Given the description of an element on the screen output the (x, y) to click on. 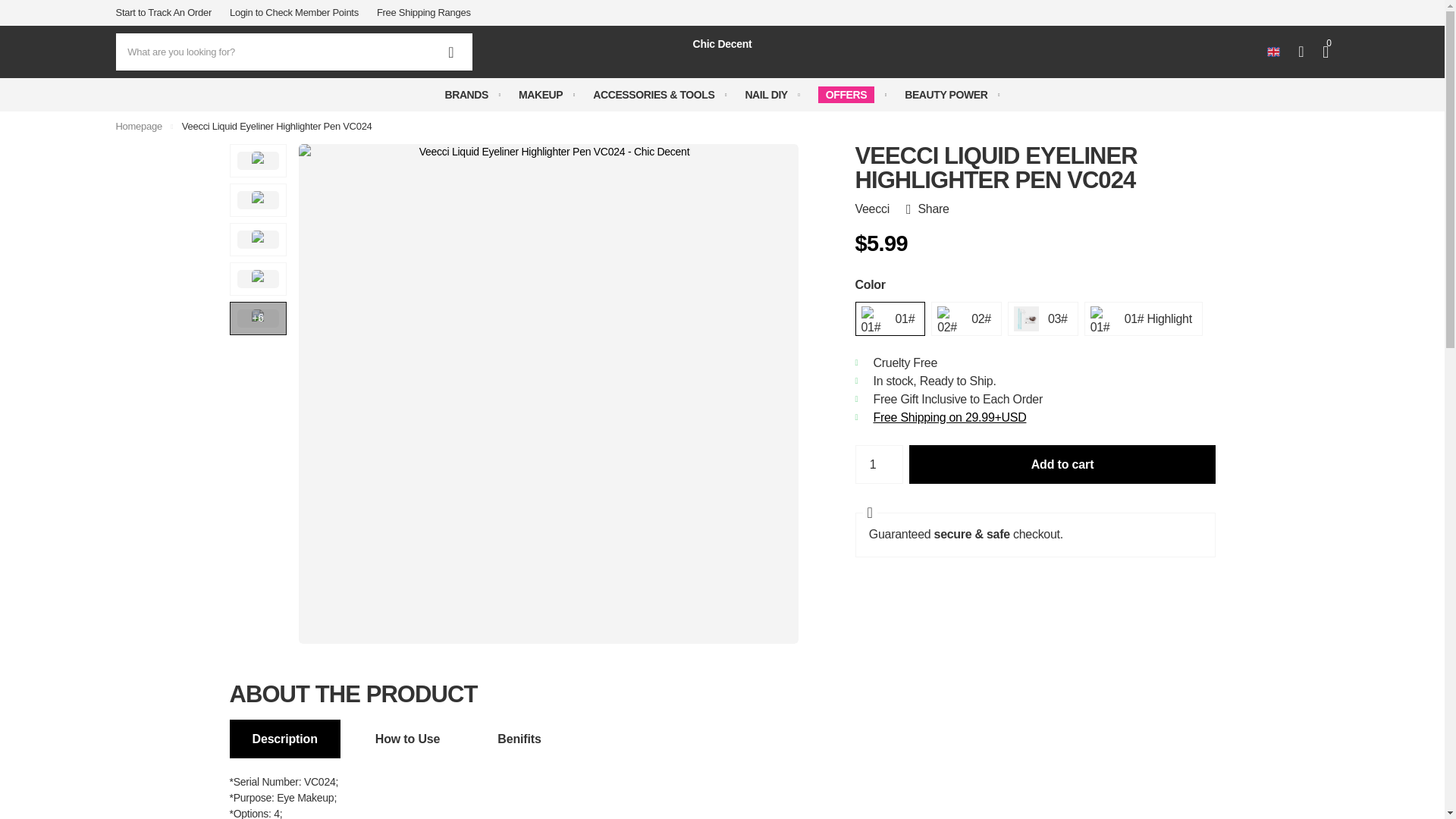
Shipping Policy (423, 12)
Start to Track An Order (163, 12)
Login to Check Member Points (294, 12)
Shipping Policy (949, 417)
Home (138, 125)
Free Shipping Ranges (423, 12)
1 (880, 464)
Track Chic Decent Orders (163, 12)
